Given the description of an element on the screen output the (x, y) to click on. 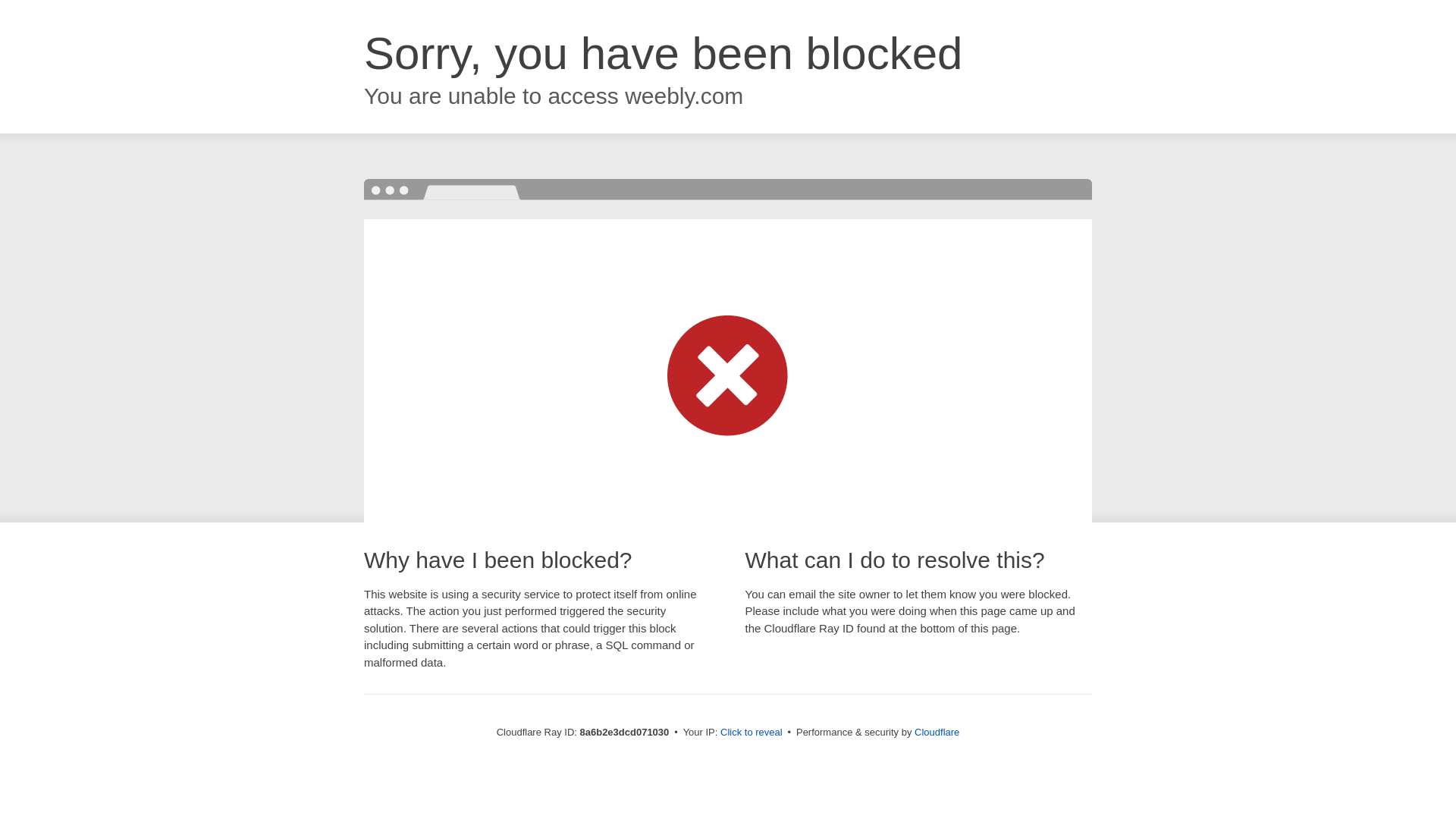
Click to reveal (751, 732)
Cloudflare (936, 731)
